Given the description of an element on the screen output the (x, y) to click on. 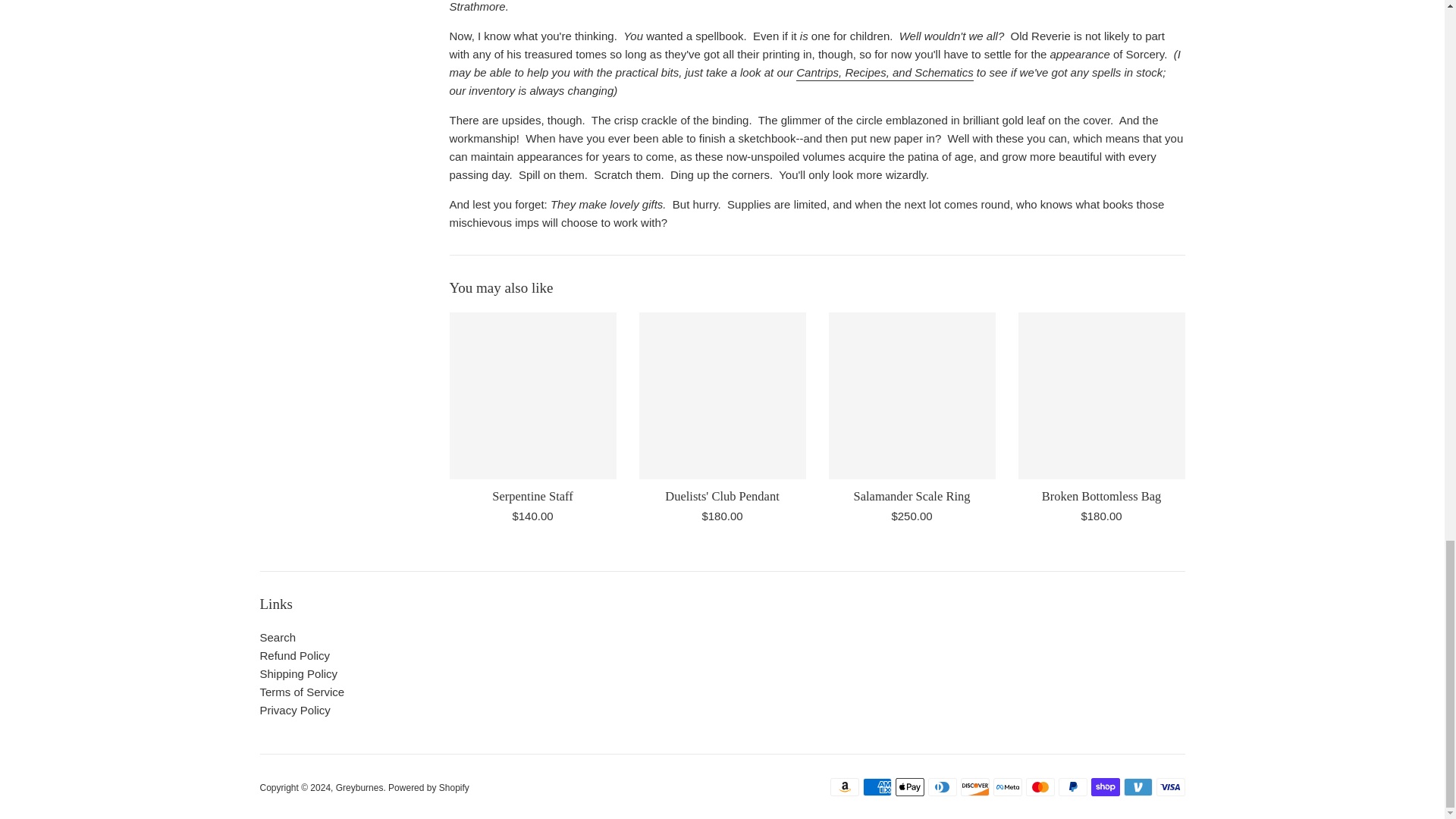
Cantrips, Recipes, and Schematics (884, 73)
Discover (973, 787)
Visa (1170, 787)
Serpentine Staff (531, 395)
Shop Pay (1104, 787)
Broken Bottomless Bag (1101, 395)
Duelists' Club Pendant (721, 495)
Cantrips, Recipes, and Schematics (884, 73)
Venmo (1138, 787)
Diners Club (942, 787)
Meta Pay (1007, 787)
Salamander Scale Ring (911, 395)
American Express (877, 787)
Amazon (844, 787)
Apple Pay (909, 787)
